Given the description of an element on the screen output the (x, y) to click on. 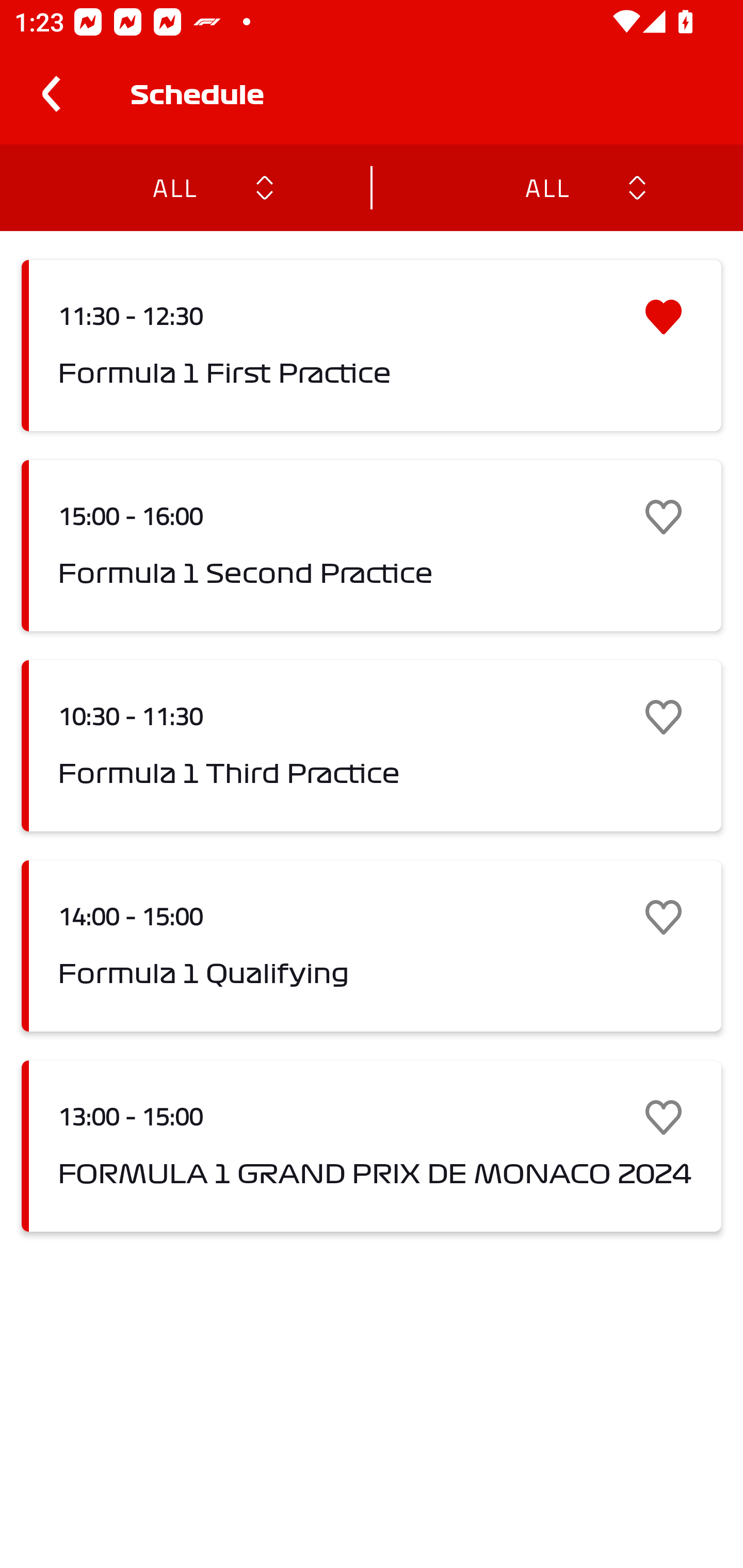
Navigate up (50, 93)
ALL (174, 187)
ALL (546, 187)
11:30 - 12:30 Formula 1 First Practice (371, 345)
15:00 - 16:00 Formula 1 Second Practice (371, 545)
10:30 - 11:30 Formula 1 Third Practice (371, 745)
14:00 - 15:00 Formula 1 Qualifying (371, 945)
13:00 - 15:00 FORMULA 1 GRAND PRIX DE MONACO 2024 (371, 1145)
